Given the description of an element on the screen output the (x, y) to click on. 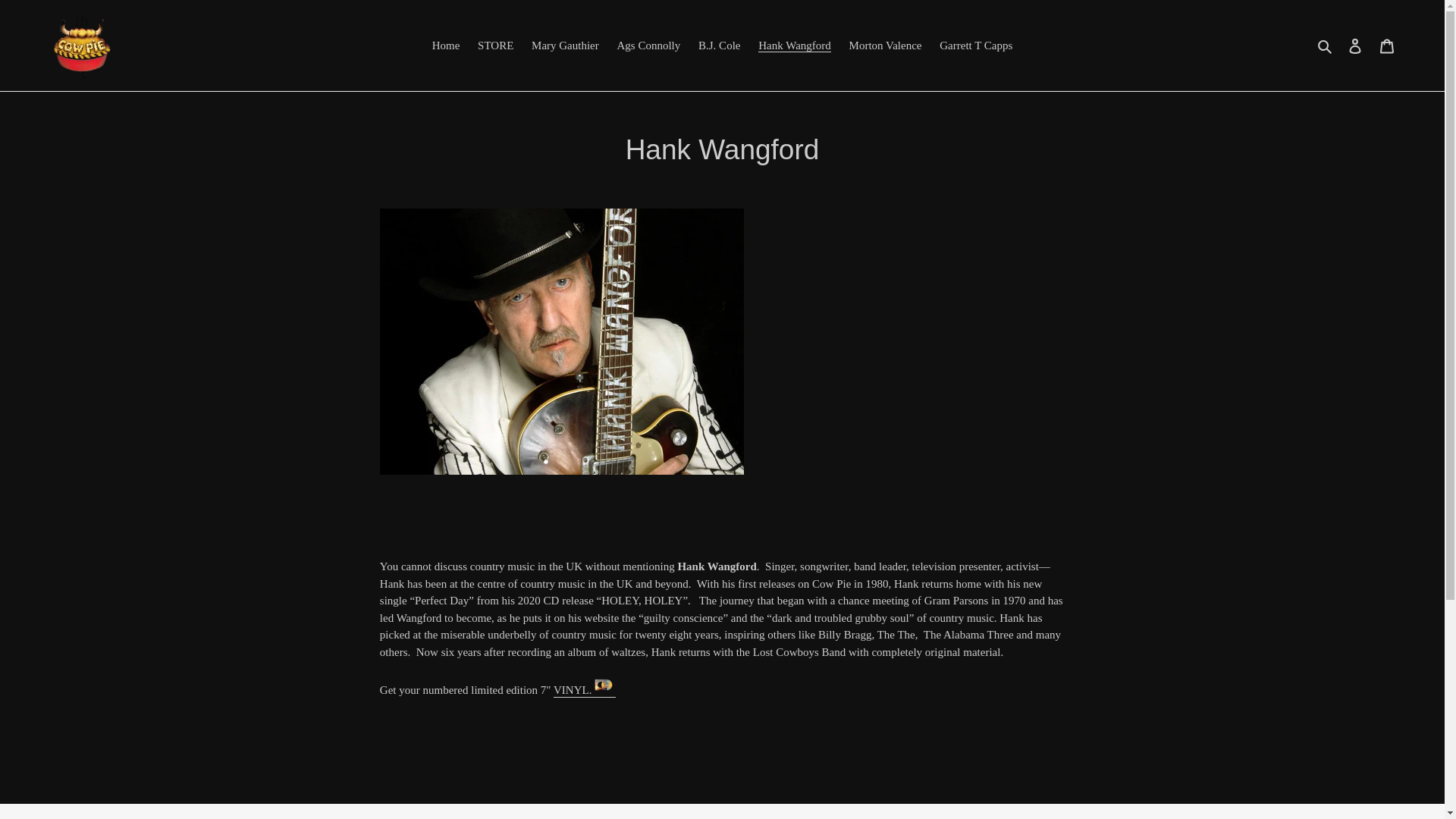
Cart (1387, 45)
Search (1326, 45)
B.J. Cole (719, 45)
STORE (495, 45)
. (602, 690)
Hank Wangford limited edition 7" vinyl (571, 690)
Ags Connolly (649, 45)
Home (446, 45)
VINYL (571, 690)
Mary Gauthier (565, 45)
